Given the description of an element on the screen output the (x, y) to click on. 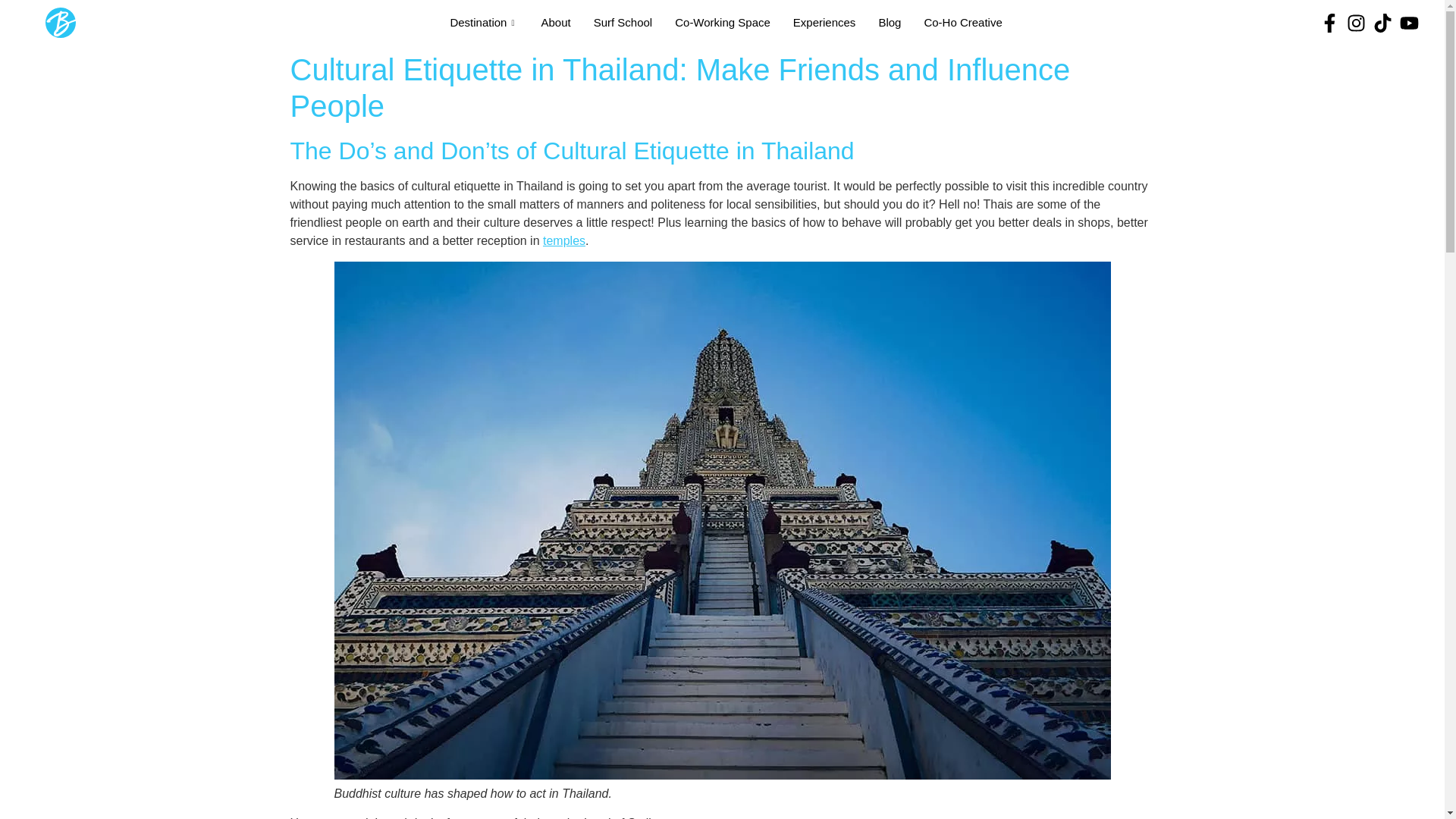
Experiences (824, 22)
Co-Ho Creative (962, 22)
Blog (889, 22)
temples (564, 240)
Destination (483, 22)
About (554, 22)
Co-Working Space (722, 22)
Surf School (622, 22)
